Given the description of an element on the screen output the (x, y) to click on. 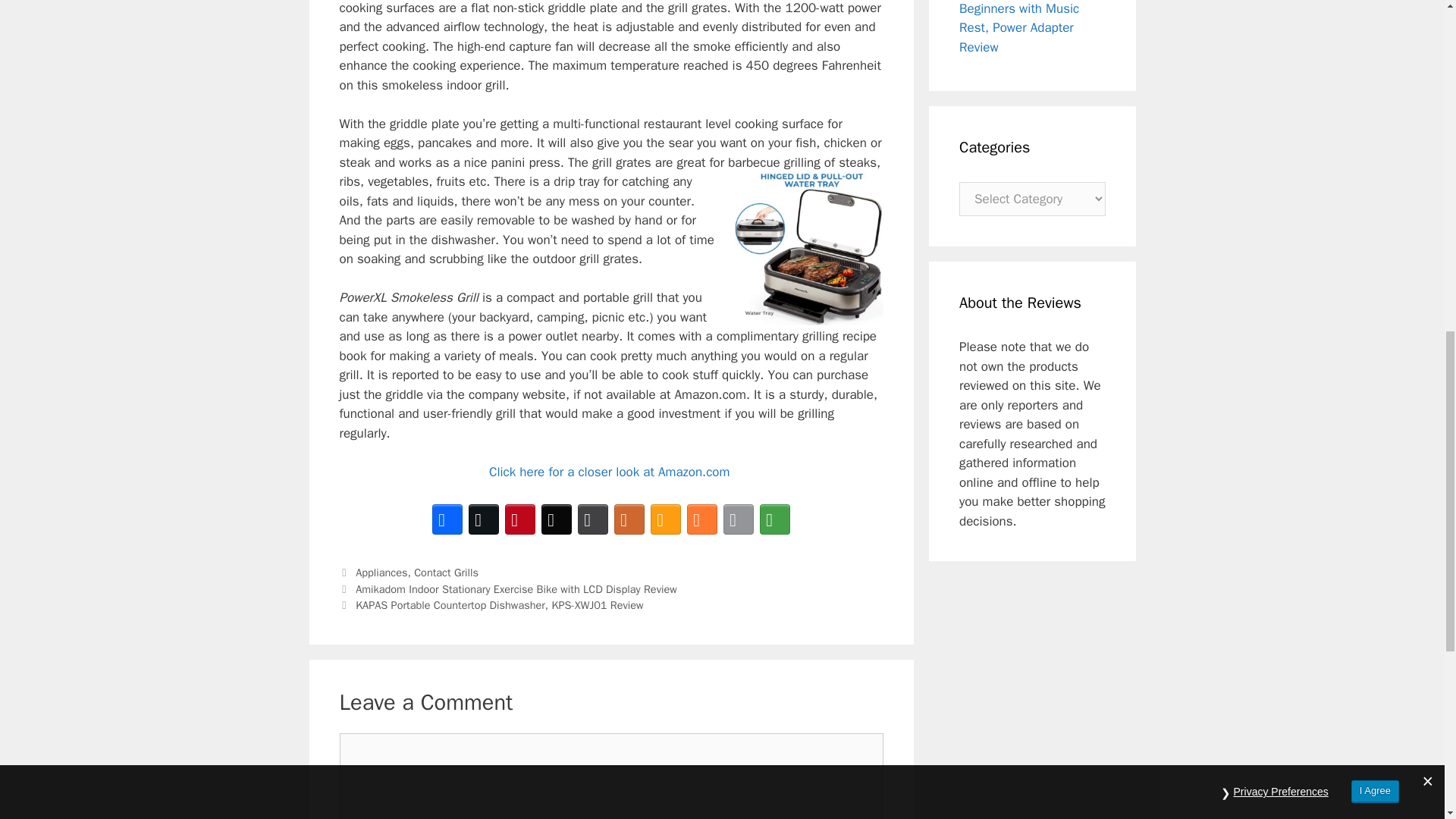
Digg (556, 519)
Stumpedia (665, 519)
Blogger Post (702, 519)
Facebook (447, 519)
Instapaper (593, 519)
Plurk (629, 519)
Email This (738, 519)
More Options (775, 519)
Pinterest (520, 519)
